Given the description of an element on the screen output the (x, y) to click on. 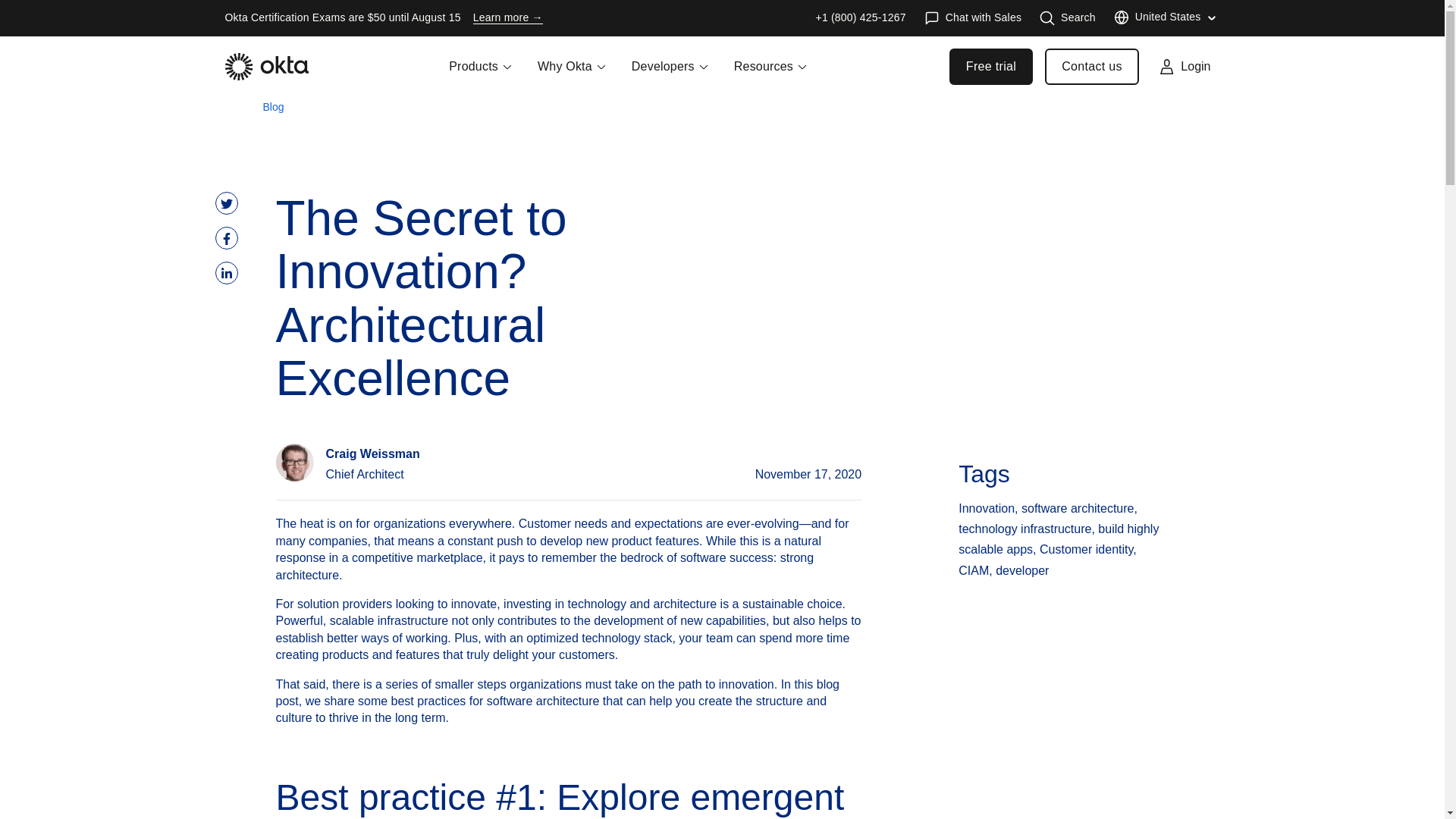
Chat with Sales (973, 18)
Search (1067, 18)
Why Okta (572, 76)
Learn more (508, 17)
Products (480, 76)
